Given the description of an element on the screen output the (x, y) to click on. 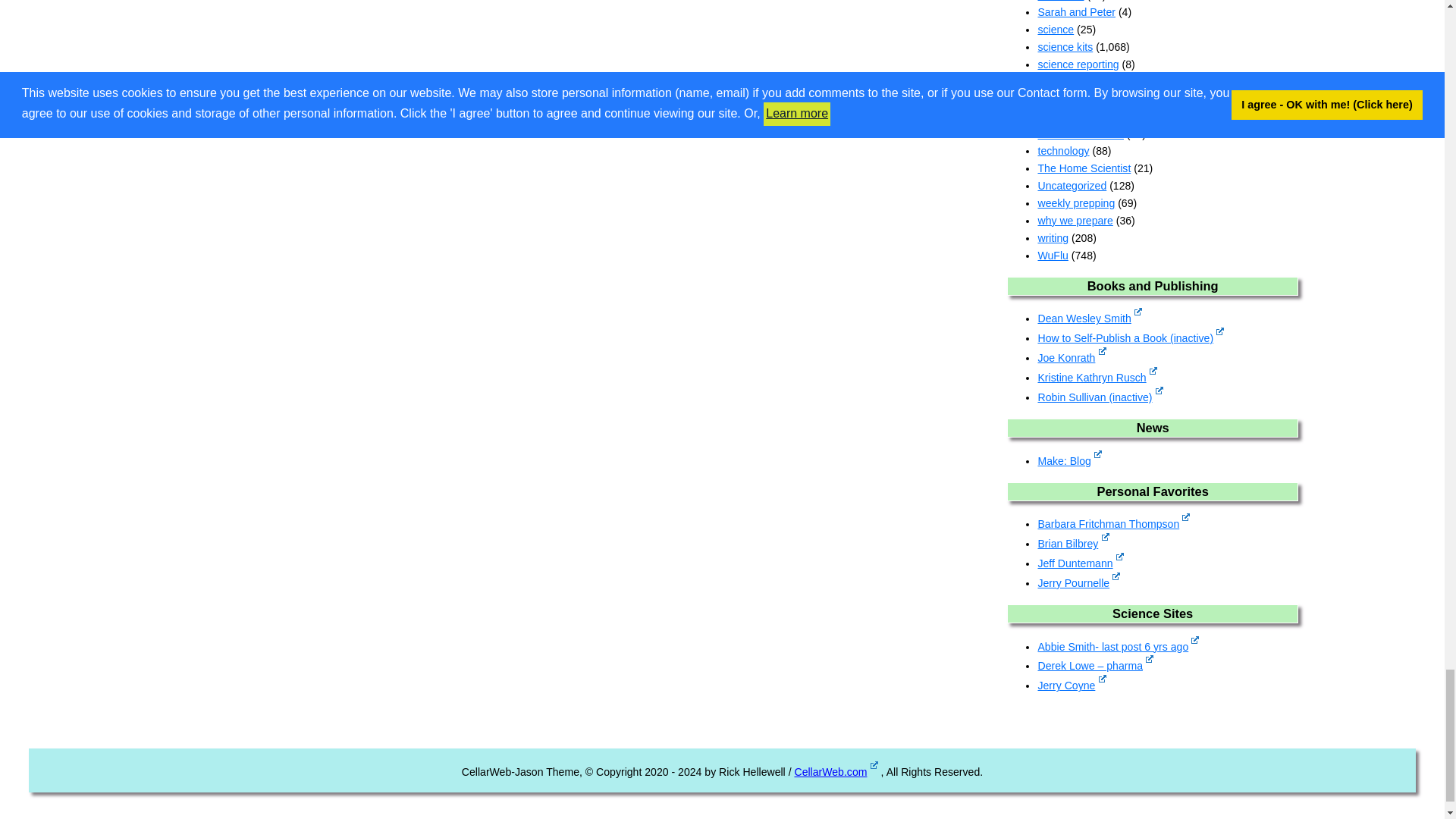
Personal blog (1072, 543)
commentary on drug discovery and the pharma industry (1094, 665)
CellarWeb.com (835, 771)
Last updated 5 yrs ago (1130, 337)
Writer site, comments about publishing industry (1070, 357)
